Given the description of an element on the screen output the (x, y) to click on. 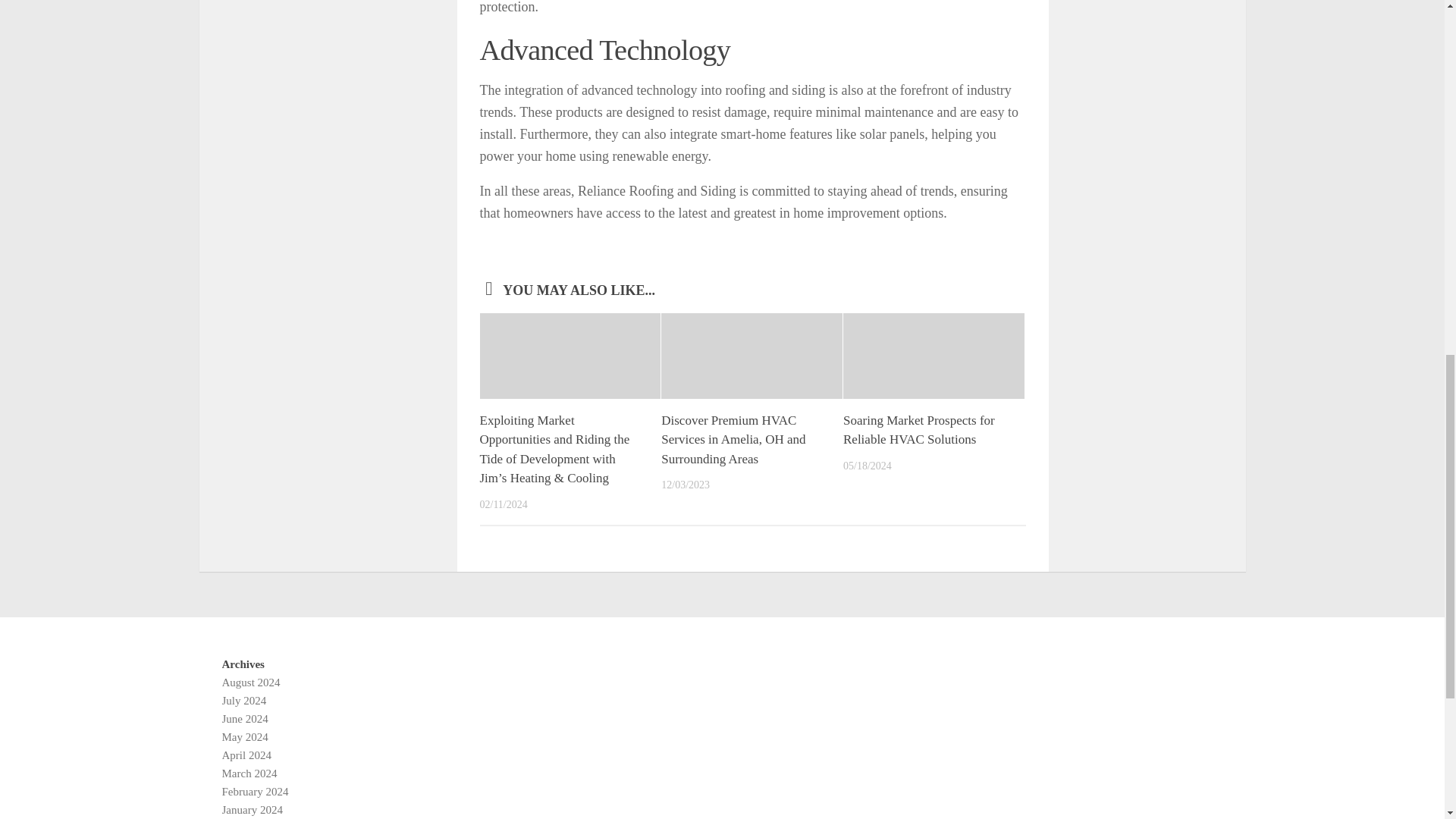
July 2024 (243, 700)
March 2024 (248, 773)
February 2024 (254, 791)
May 2024 (244, 736)
August 2024 (250, 682)
Soaring Market Prospects for Reliable HVAC Solutions (918, 430)
June 2024 (244, 718)
April 2024 (245, 755)
January 2024 (251, 809)
